Given the description of an element on the screen output the (x, y) to click on. 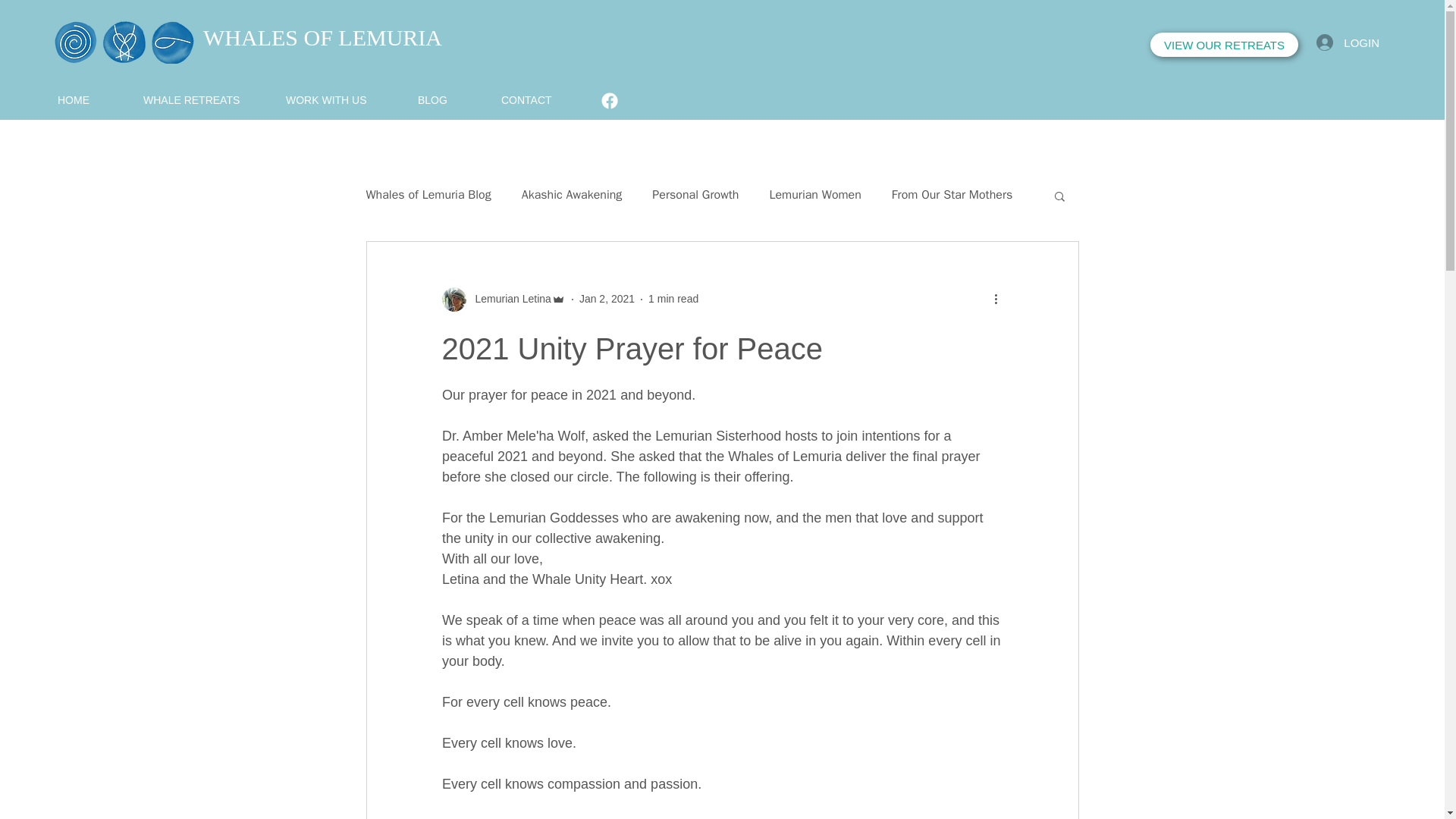
Lemurian Letina (502, 298)
1 min read (672, 298)
Jan 2, 2021 (606, 298)
Akashic Awakening (572, 195)
Personal Growth (695, 195)
Lemurian Letina (507, 299)
VIEW OUR RETREATS (1224, 44)
BLOG (451, 98)
LOGIN (1348, 42)
CONTACT (545, 98)
From Our Star Mothers (951, 195)
Lemurian Women (814, 195)
HOME (92, 98)
WHALES OF LEMURIA (322, 37)
Whales of Lemuria Blog (427, 195)
